Given the description of an element on the screen output the (x, y) to click on. 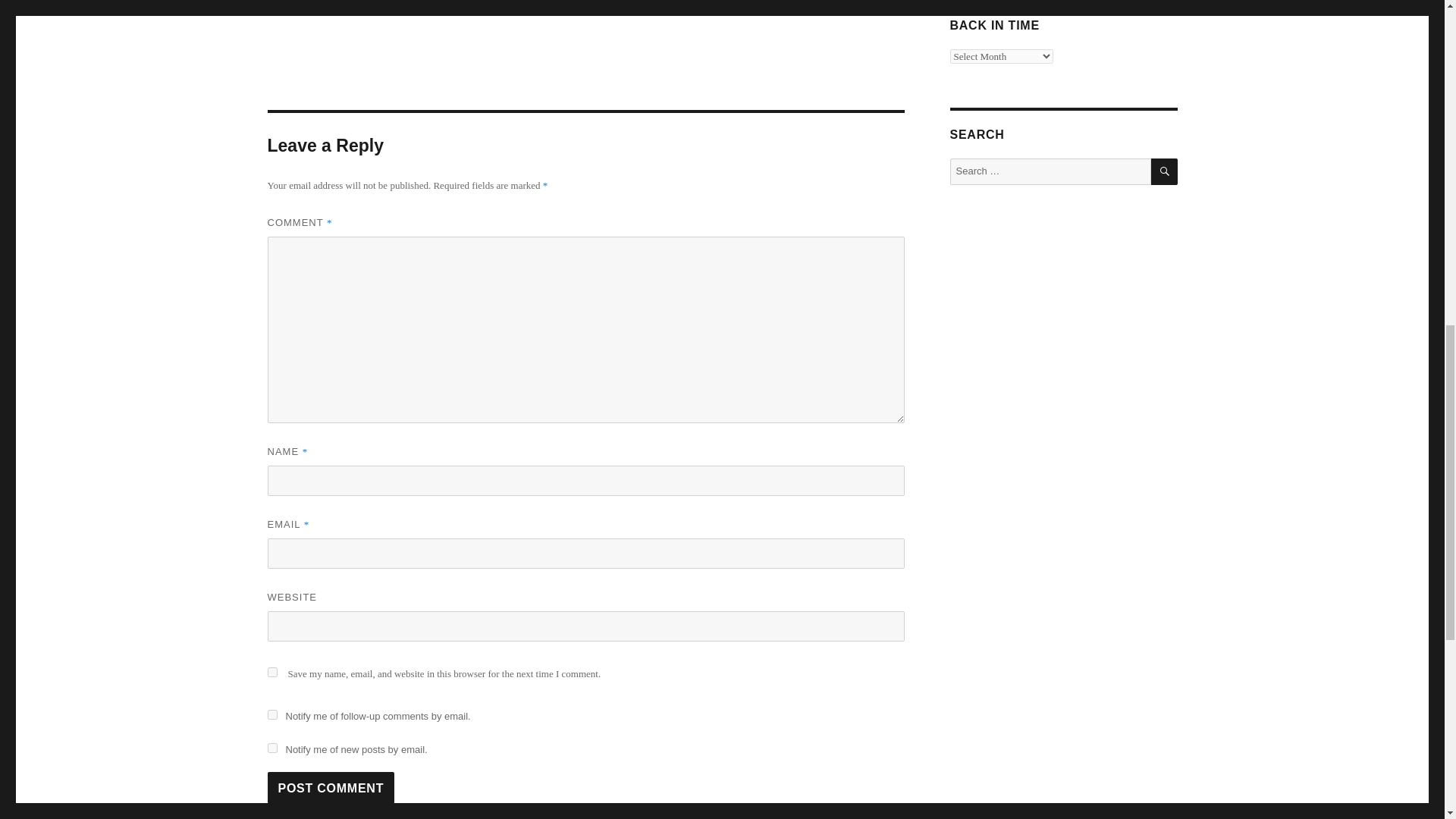
Post Comment (330, 787)
yes (271, 672)
subscribe (271, 714)
Post Comment (330, 787)
SEARCH (1164, 171)
subscribe (271, 747)
